Given the description of an element on the screen output the (x, y) to click on. 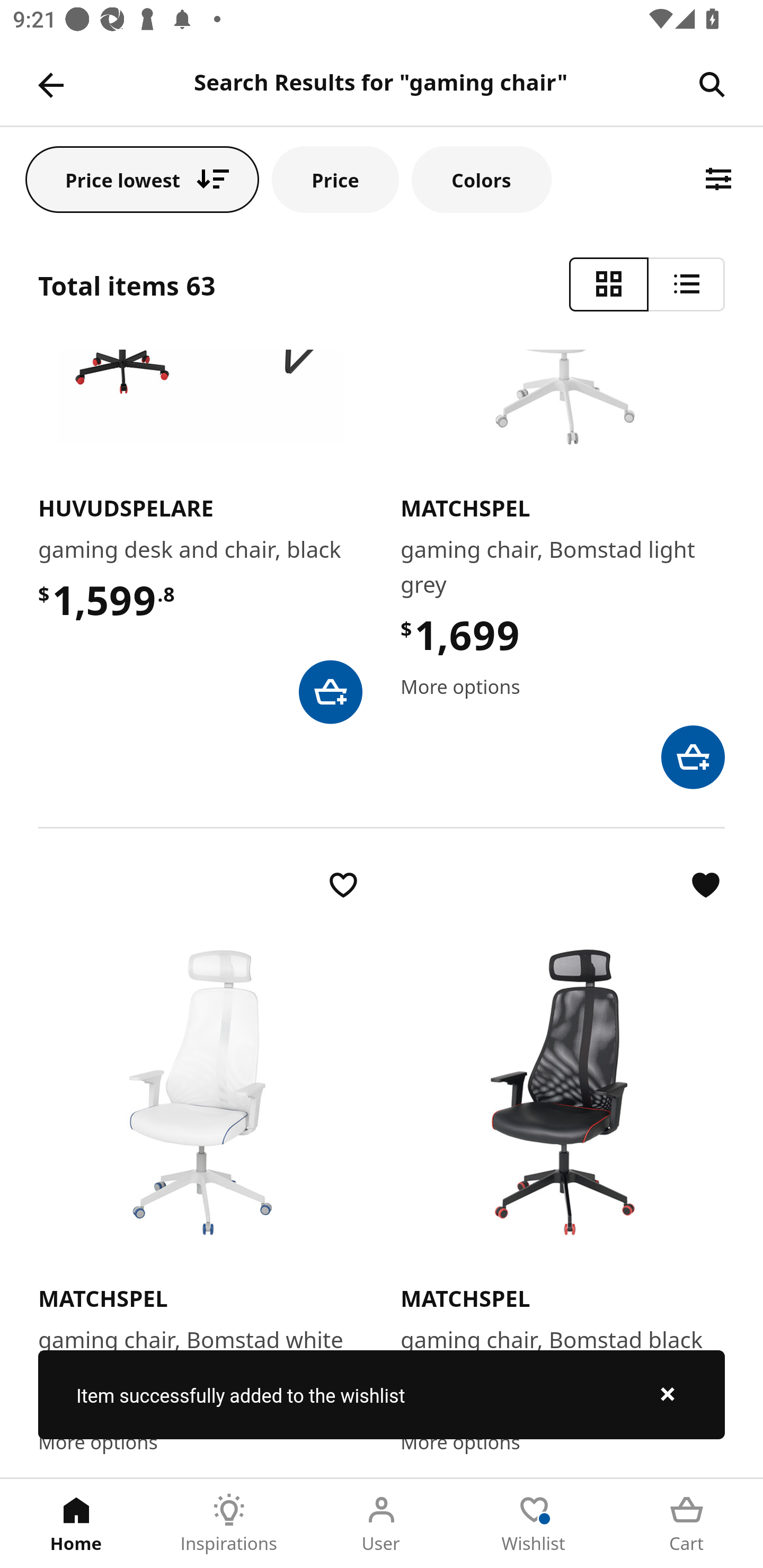
Price lowest (142, 179)
Price (335, 179)
Colors (481, 179)
Item successfully added to the wishlist (381, 1394)
Home
Tab 1 of 5 (76, 1522)
Inspirations
Tab 2 of 5 (228, 1522)
User
Tab 3 of 5 (381, 1522)
Wishlist
Tab 4 of 5 (533, 1522)
Cart
Tab 5 of 5 (686, 1522)
